Given the description of an element on the screen output the (x, y) to click on. 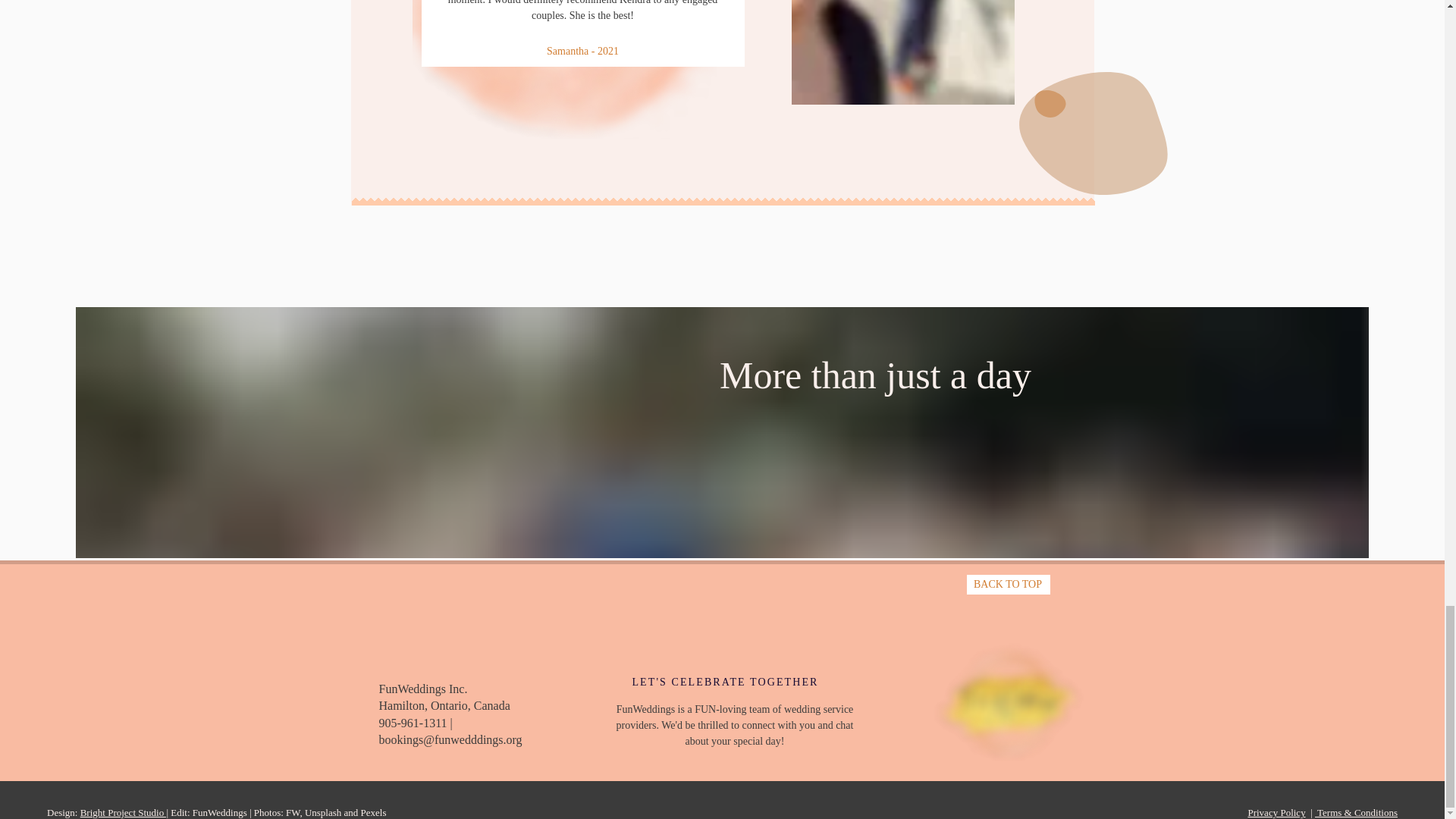
Privacy Policy (1275, 812)
CONTACT US (710, 761)
BACK TO TOP (1008, 583)
KEndra.JPG (903, 52)
